Given the description of an element on the screen output the (x, y) to click on. 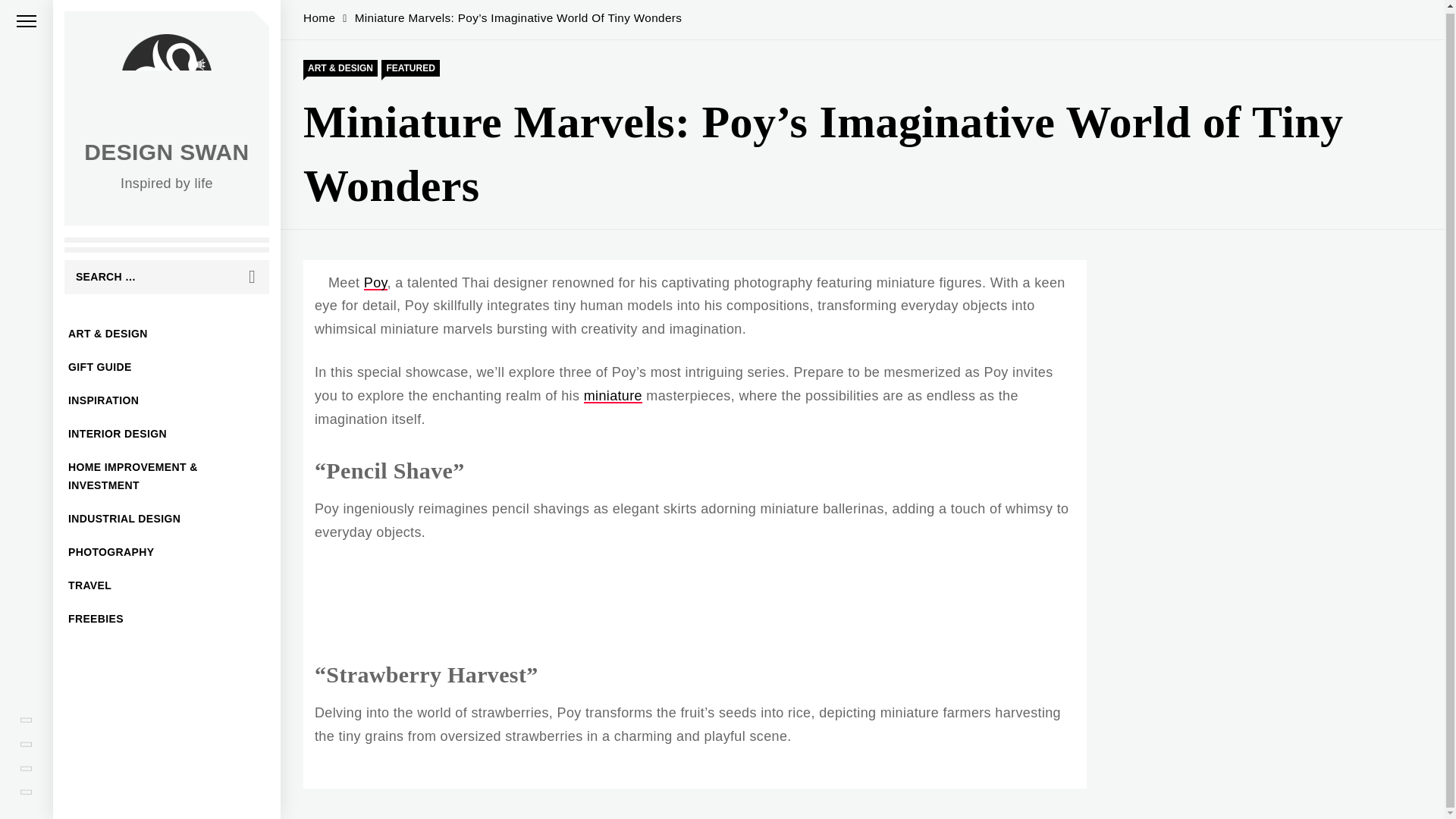
FEATURED (410, 67)
Home (318, 17)
Poy (375, 282)
INSPIRATION (166, 397)
PHOTOGRAPHY (166, 549)
GIFT GUIDE (166, 364)
TRAVEL (166, 582)
Search (251, 274)
Search (251, 274)
INDUSTRIAL DESIGN (166, 516)
FREEBIES (166, 616)
DESIGN SWAN (166, 149)
miniature (612, 395)
Search (251, 274)
INTERIOR DESIGN (166, 430)
